Given the description of an element on the screen output the (x, y) to click on. 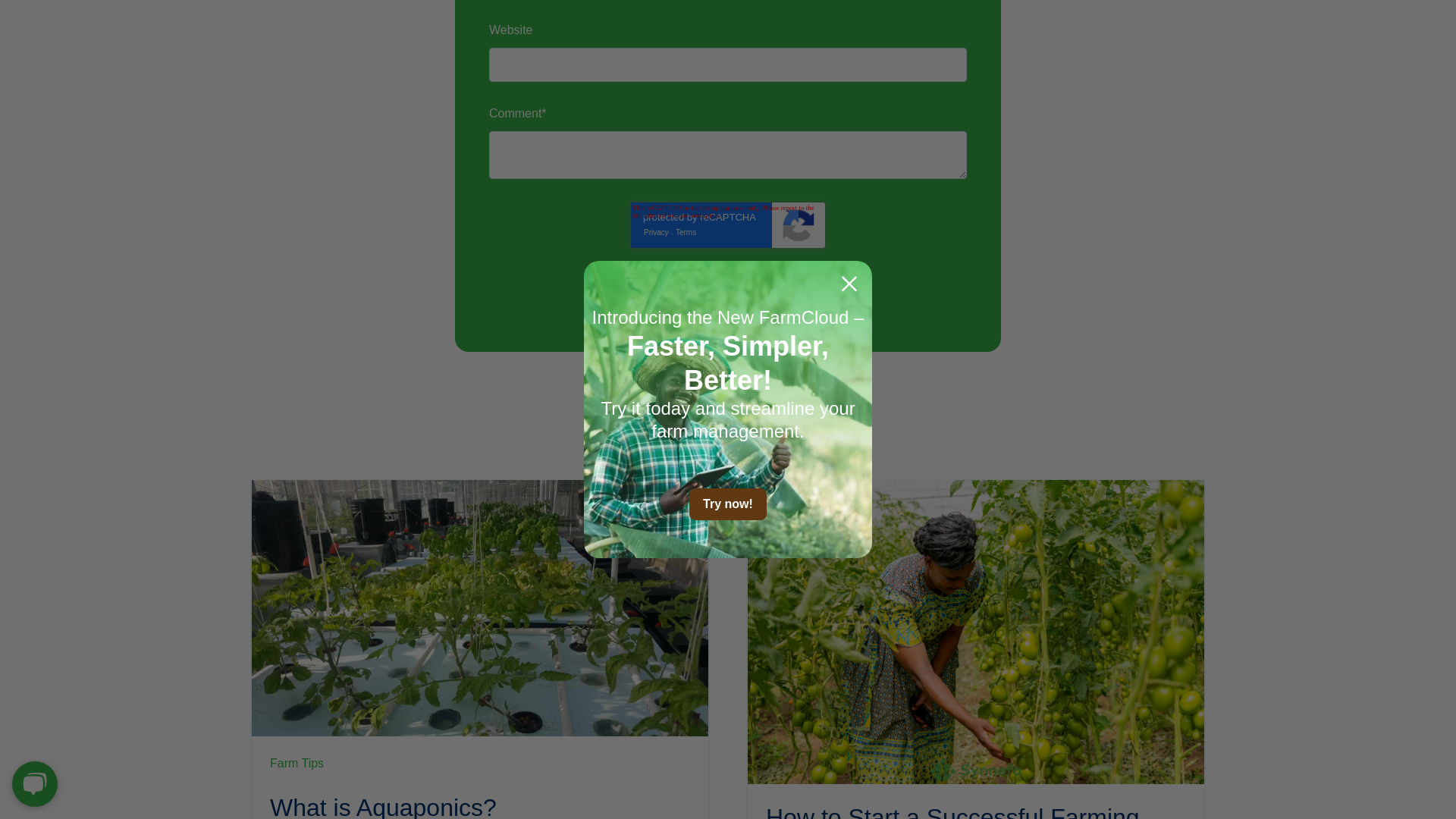
Submit Comment (727, 282)
